Given the description of an element on the screen output the (x, y) to click on. 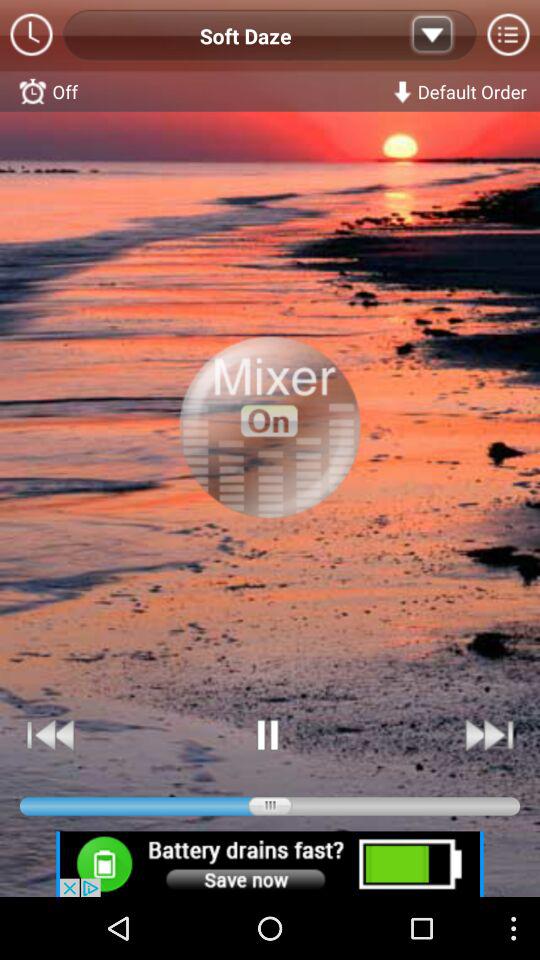
select the down option (432, 35)
